Given the description of an element on the screen output the (x, y) to click on. 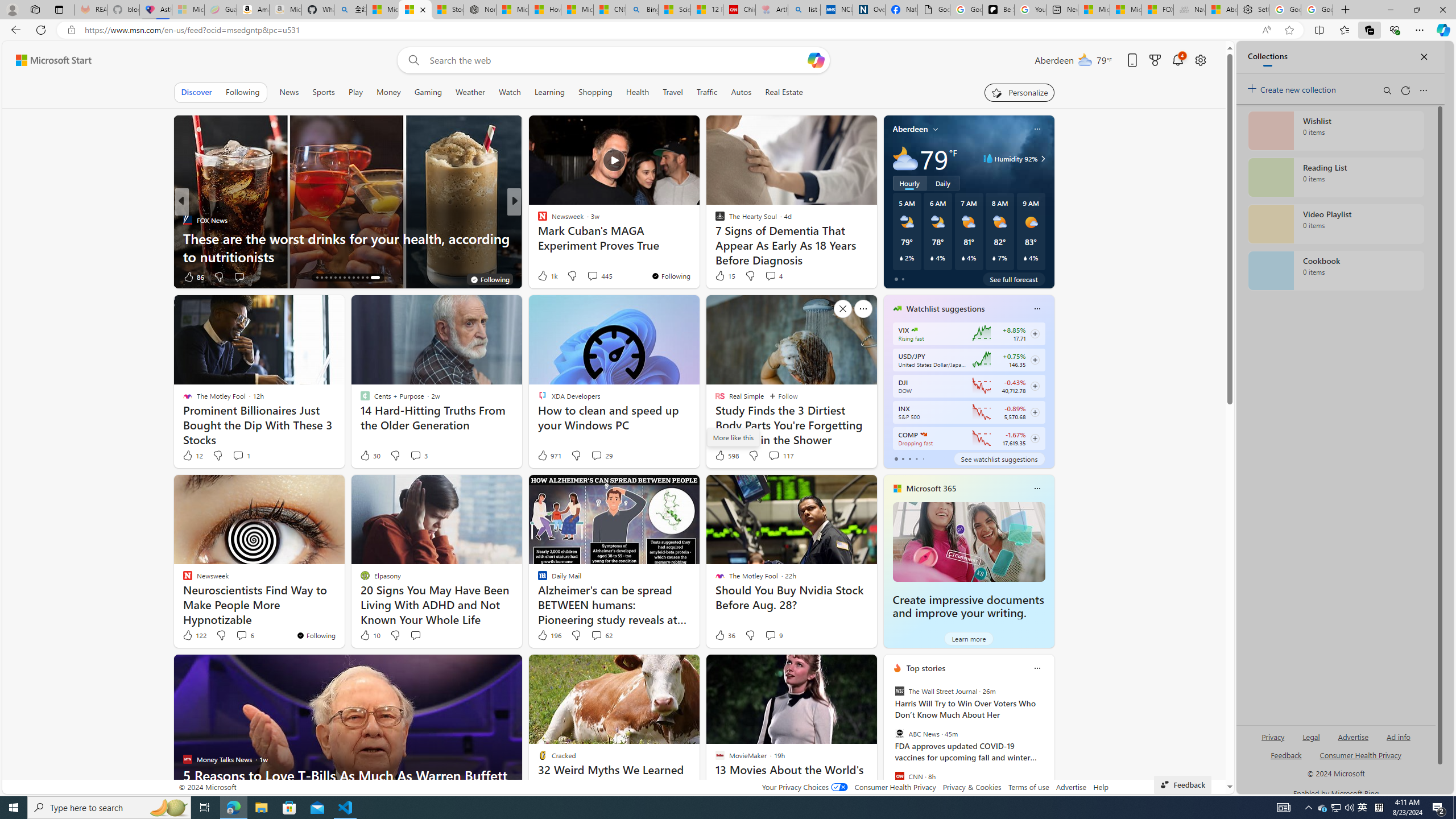
AutomationID: genId96 (1285, 759)
Asthma Inhalers: Names and Types (155, 9)
CBOE Market Volatility Index (914, 329)
View comments 117 Comment (779, 455)
Your Privacy Choices (804, 786)
AutomationID: tab-23 (358, 277)
Top stories (925, 668)
Follow (783, 395)
